Given the description of an element on the screen output the (x, y) to click on. 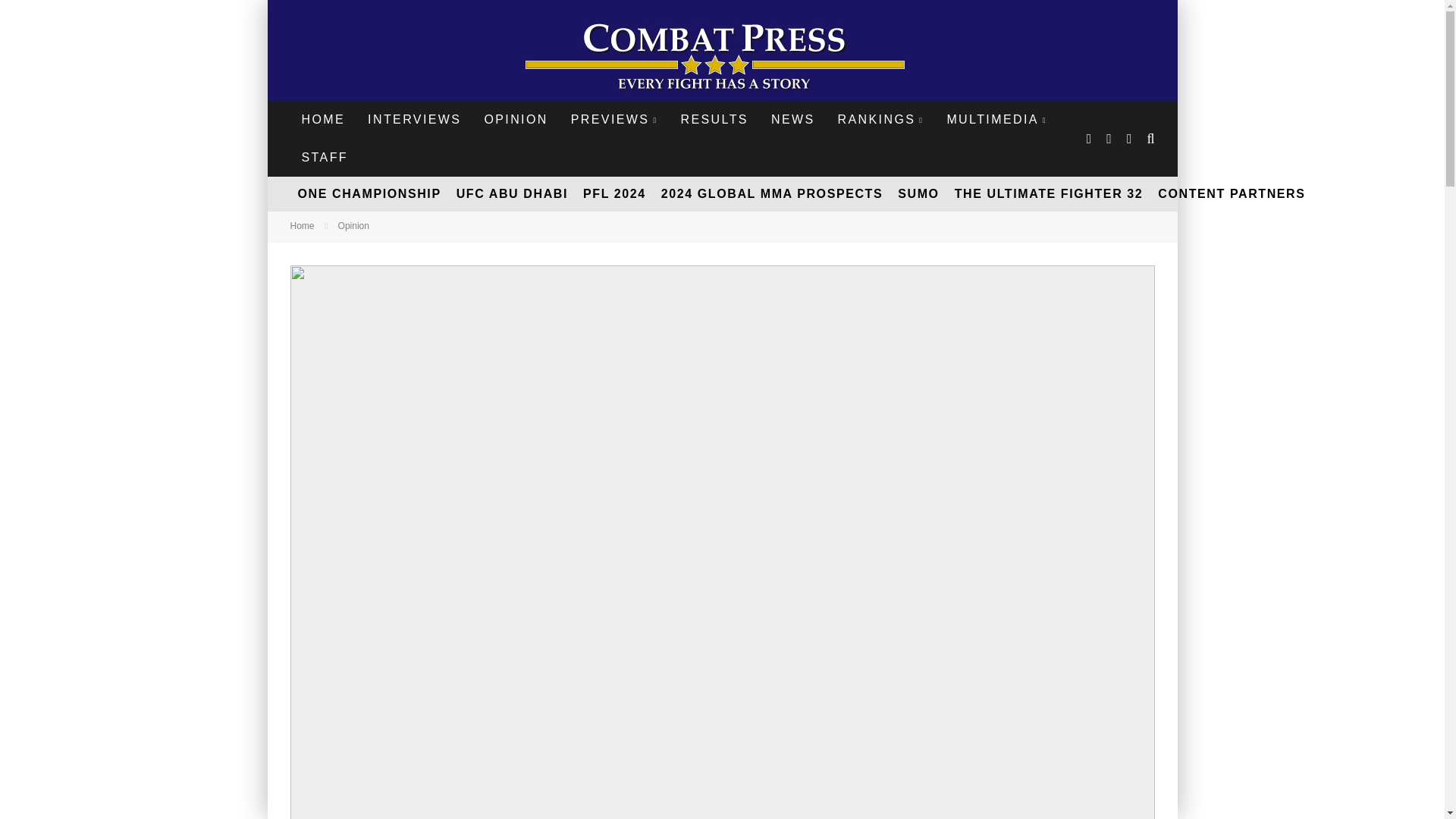
HOME (322, 119)
INTERVIEWS (413, 119)
OPINION (515, 119)
